Given the description of an element on the screen output the (x, y) to click on. 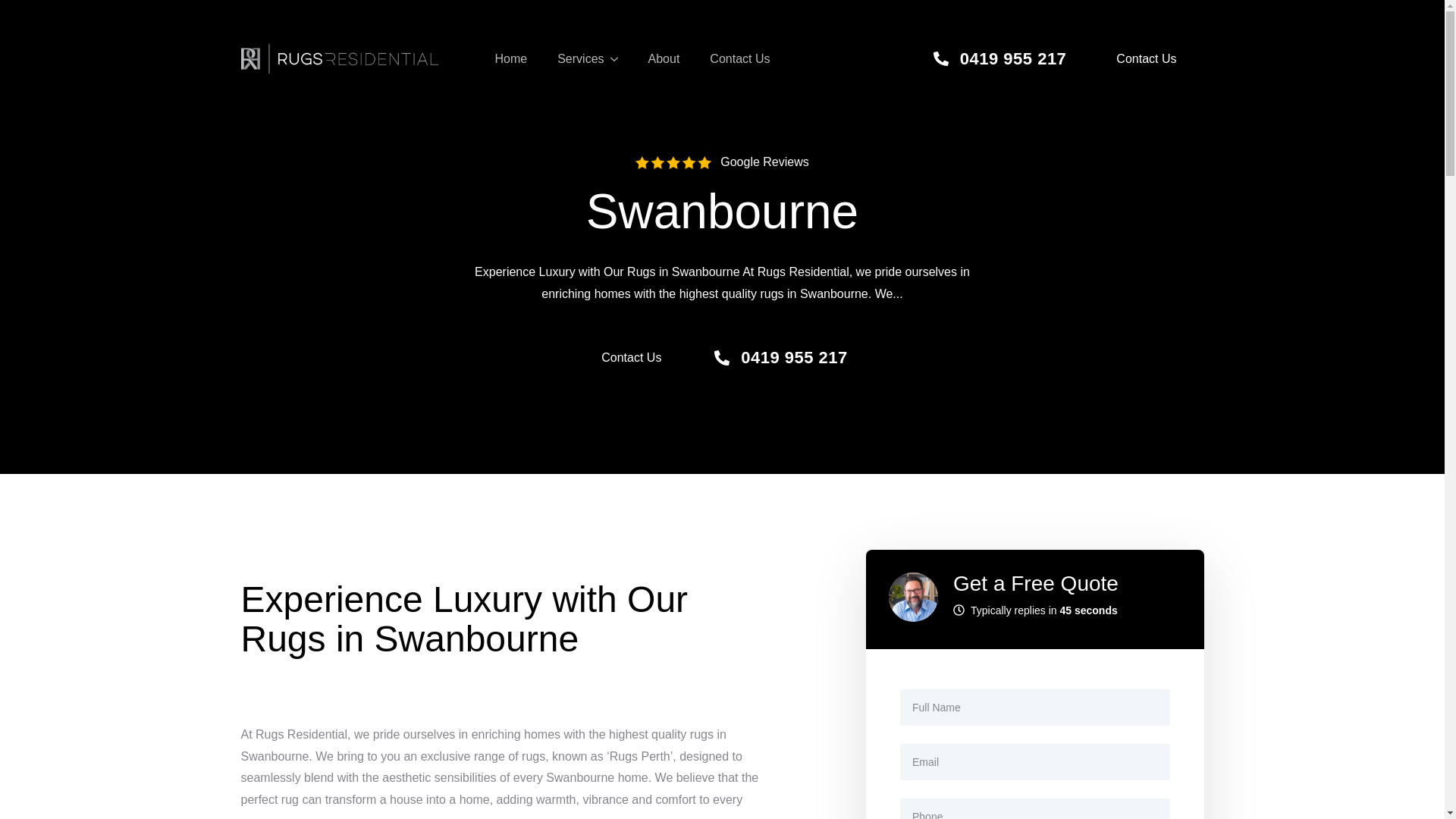
Contact Us (739, 58)
About (664, 58)
Services (572, 58)
Home (510, 58)
